Given the description of an element on the screen output the (x, y) to click on. 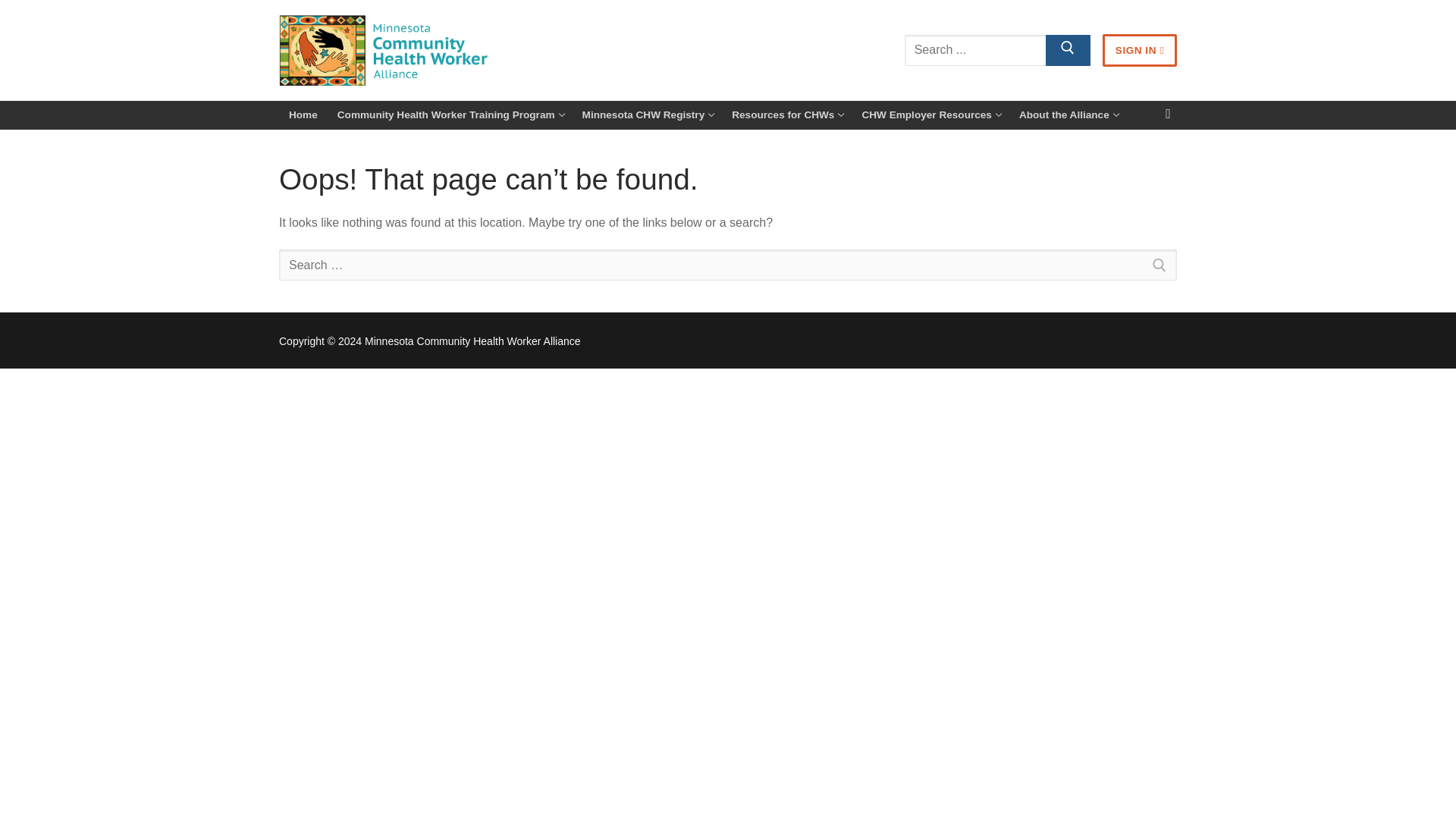
SIGN IN (1067, 114)
Home (786, 114)
Search for: (1139, 50)
Search for: (303, 114)
